Given the description of an element on the screen output the (x, y) to click on. 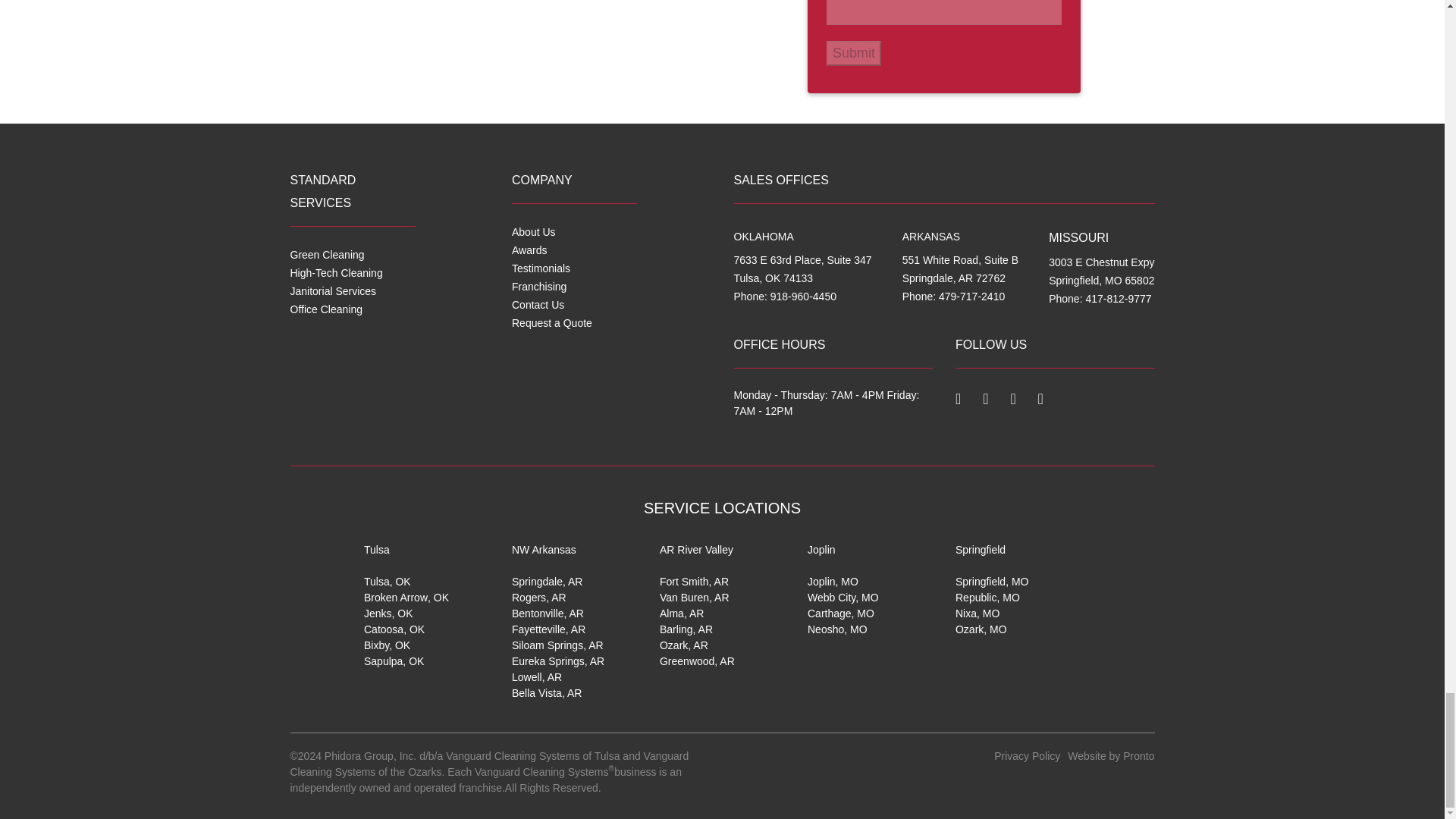
Submit (853, 53)
